Given the description of an element on the screen output the (x, y) to click on. 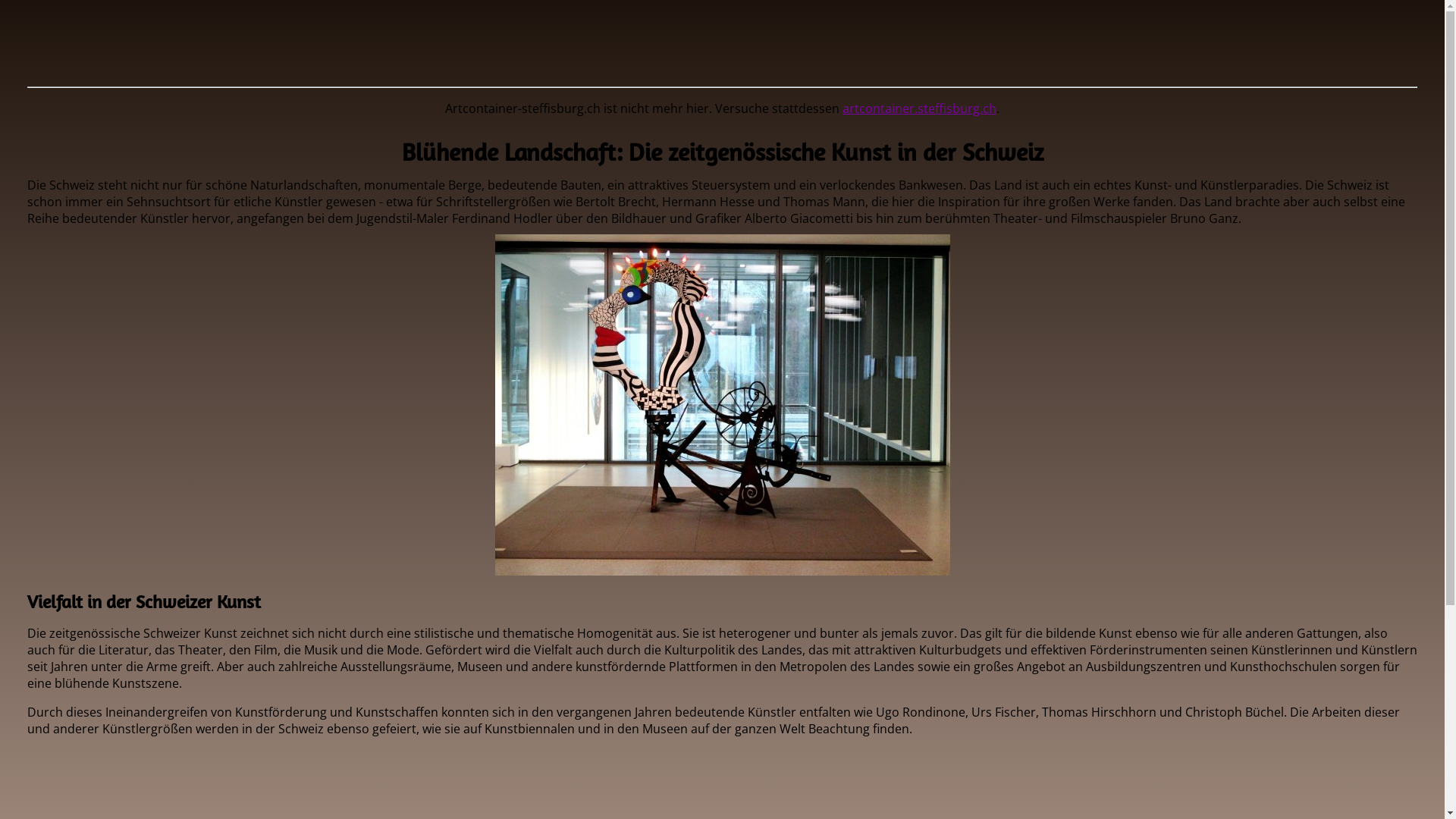
artcontainer.steffisburg.ch Element type: text (919, 108)
